Given the description of an element on the screen output the (x, y) to click on. 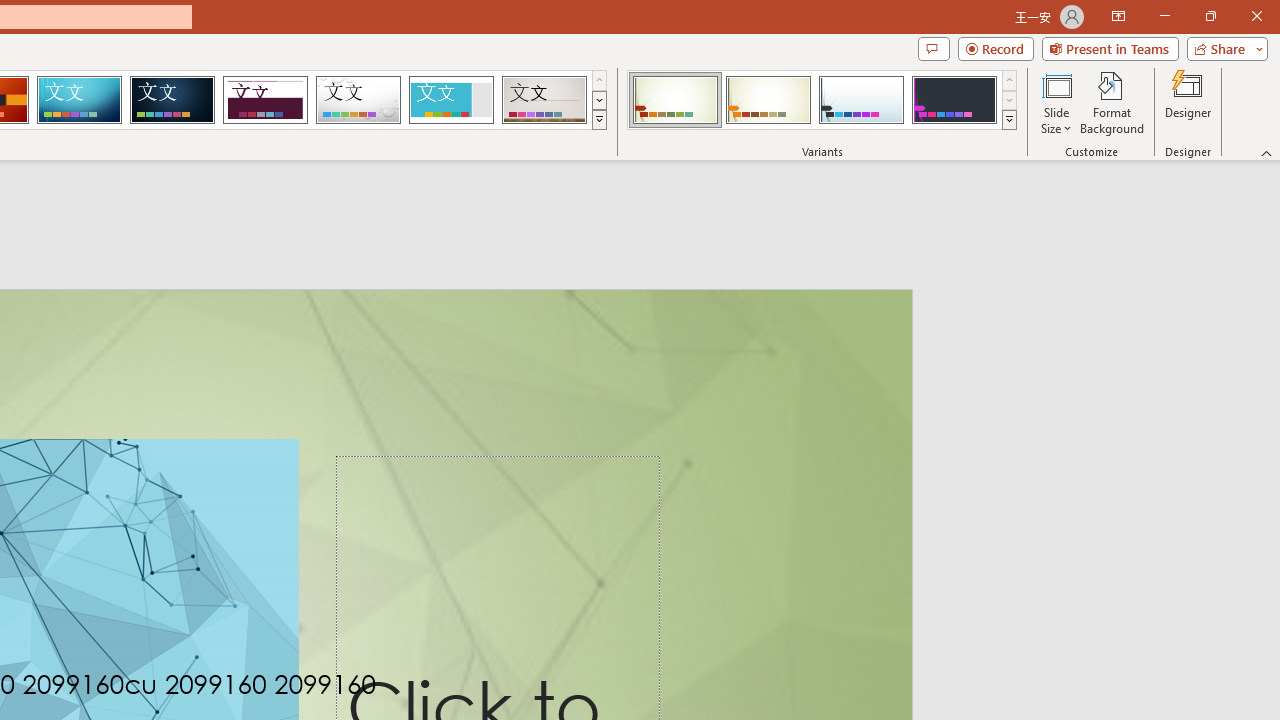
Circuit (79, 100)
Frame (450, 100)
Wisp Variant 3 (861, 100)
Wisp Variant 2 (768, 100)
Wisp Variant 1 (674, 100)
Droplet (358, 100)
